Given the description of an element on the screen output the (x, y) to click on. 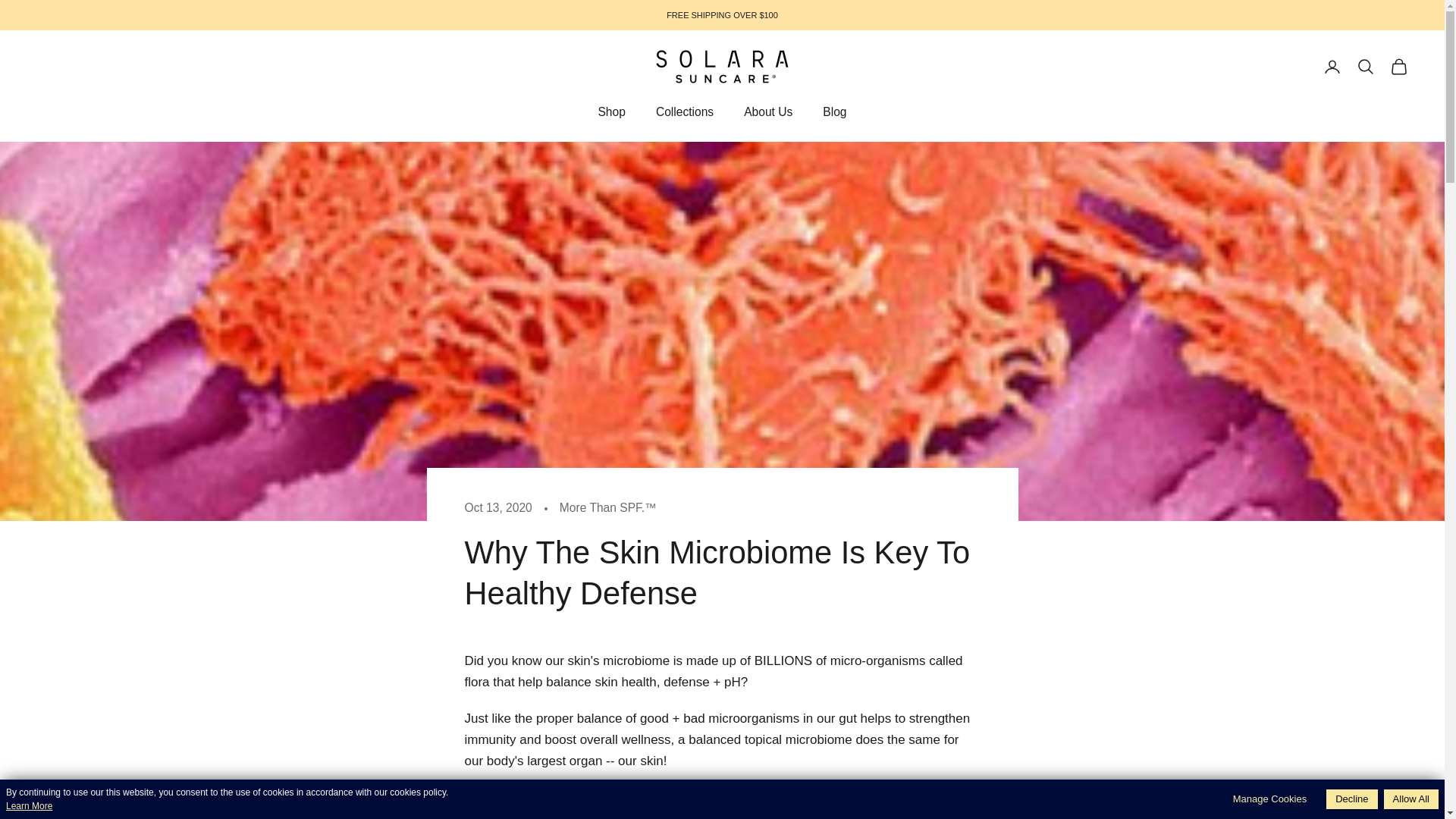
Open search (1365, 66)
Blog (833, 112)
About Us (768, 112)
Solara Suncare (722, 66)
Open cart (1398, 66)
Open account page (1331, 66)
